Given the description of an element on the screen output the (x, y) to click on. 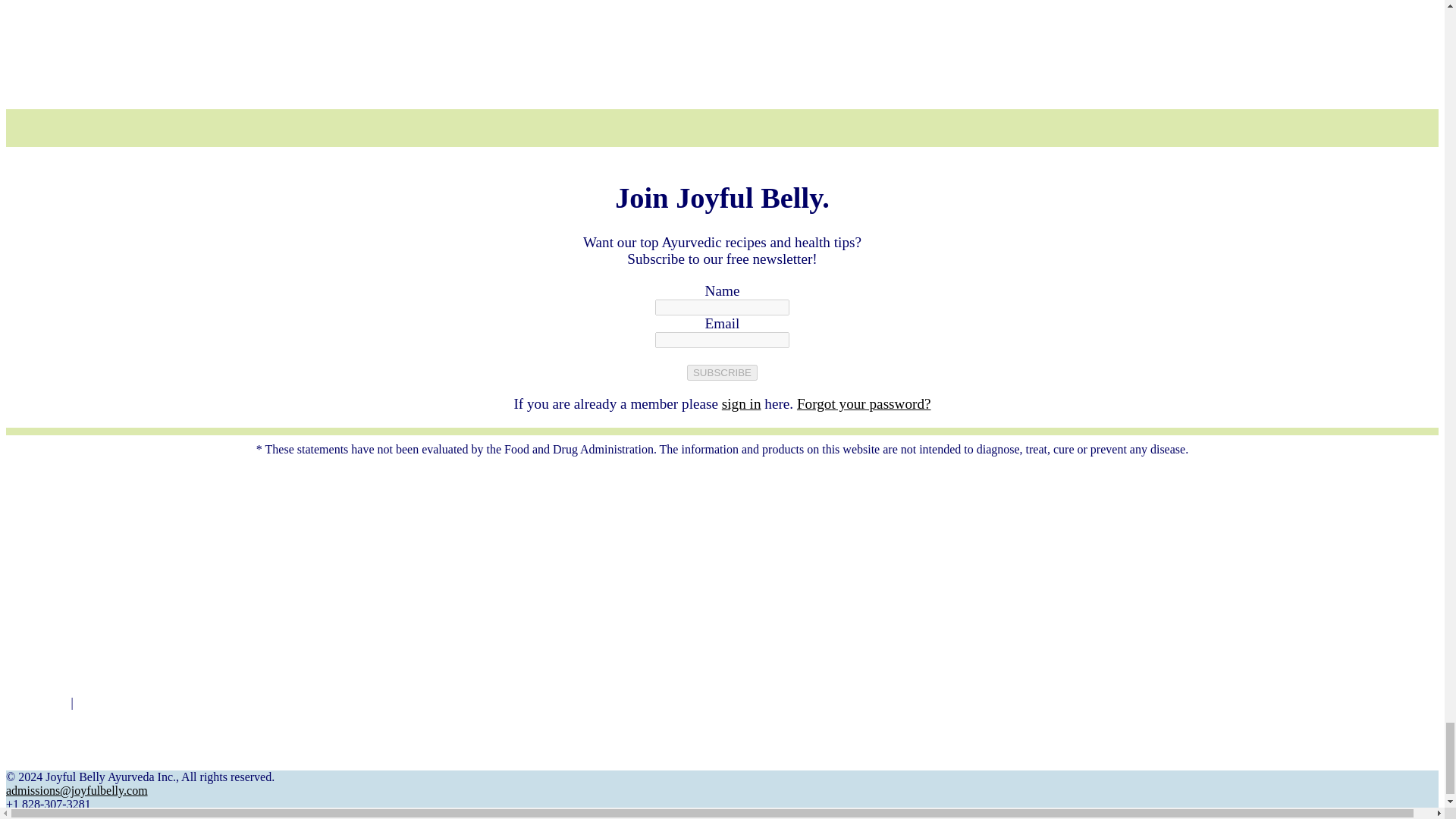
SUBSCRIBE (722, 372)
